Given the description of an element on the screen output the (x, y) to click on. 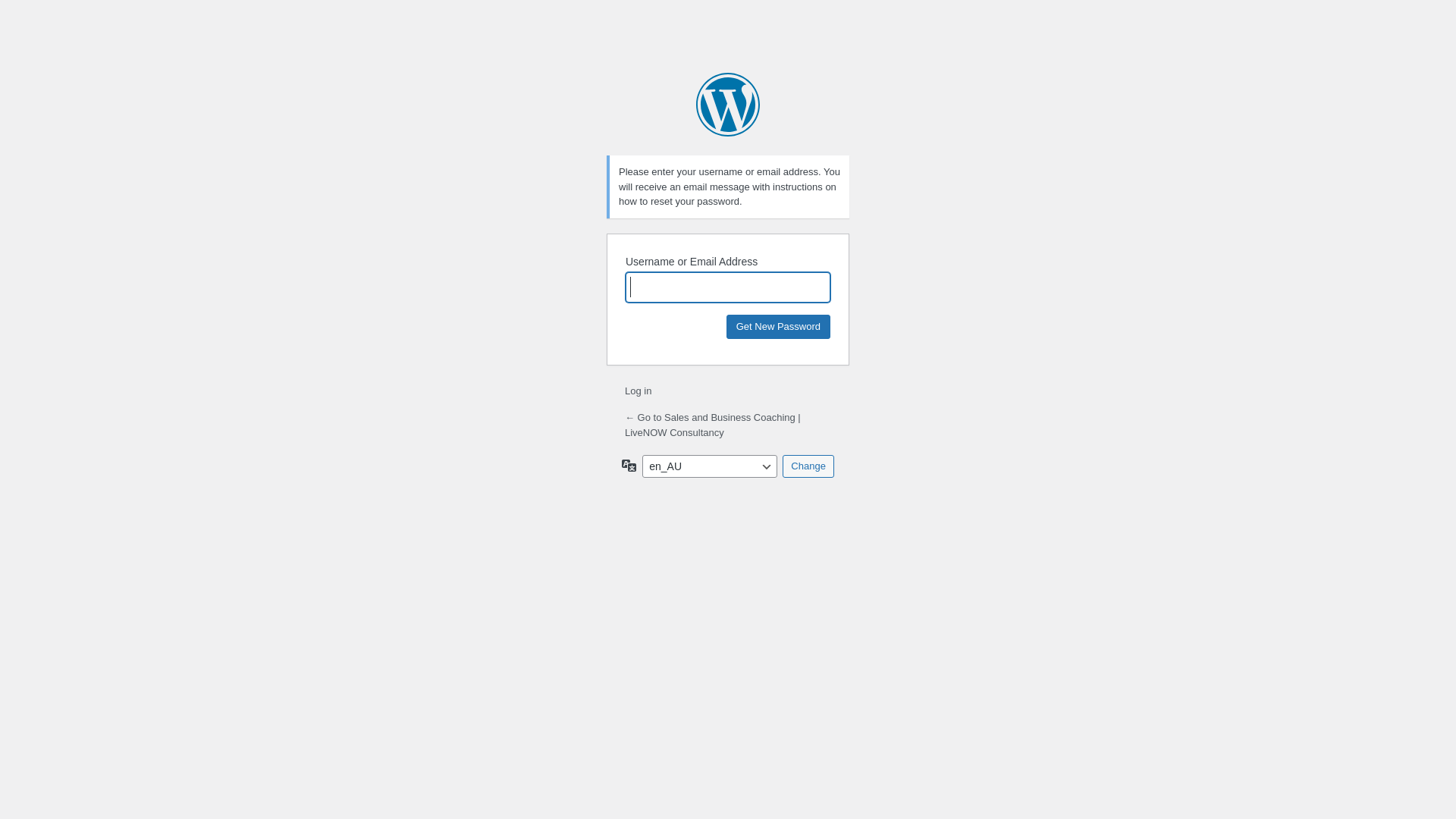
Change Element type: text (808, 466)
Log in Element type: text (637, 390)
Powered by WordPress Element type: text (727, 104)
Get New Password Element type: text (778, 325)
